Given the description of an element on the screen output the (x, y) to click on. 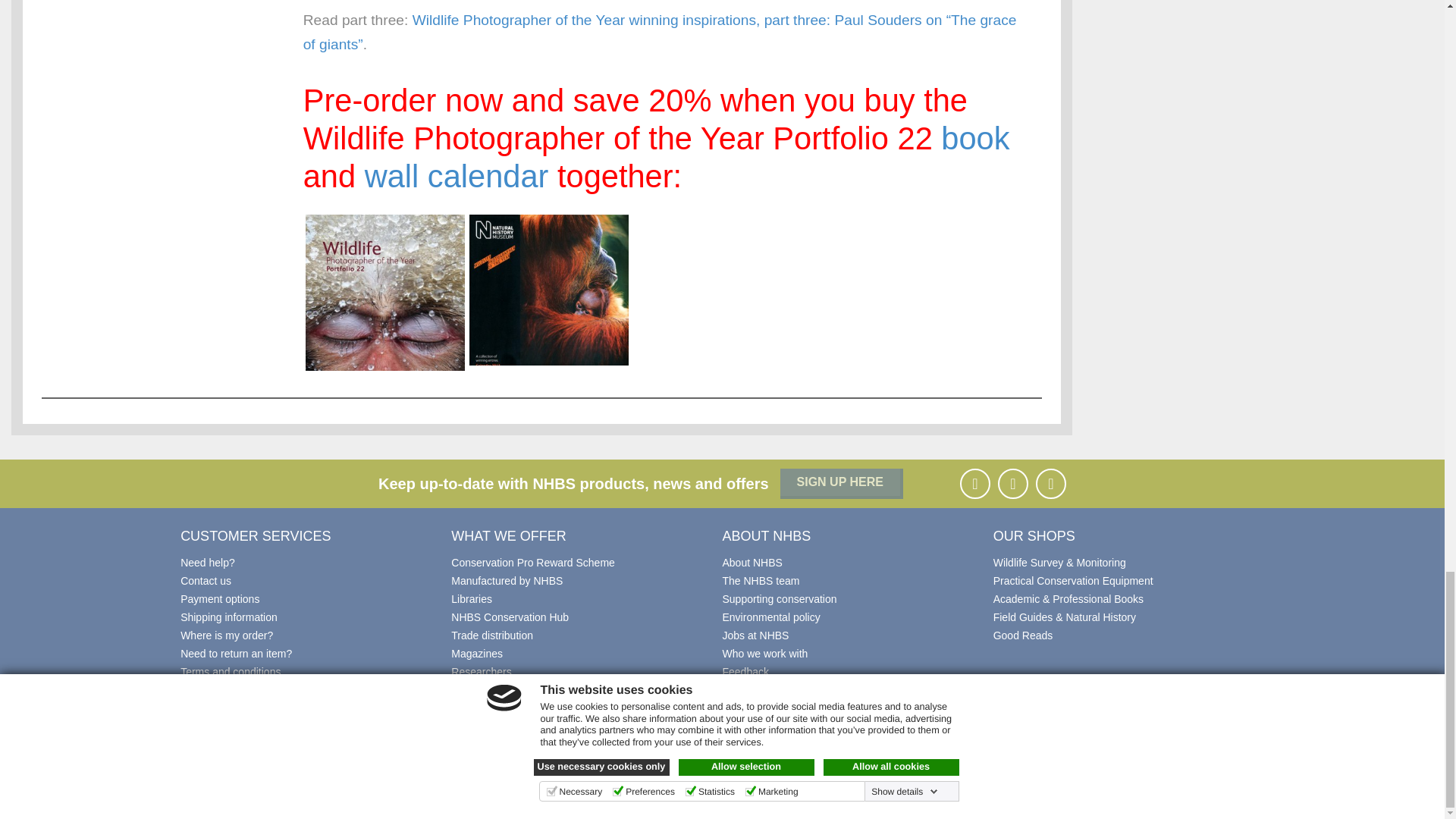
Sign up here (841, 483)
